Given the description of an element on the screen output the (x, y) to click on. 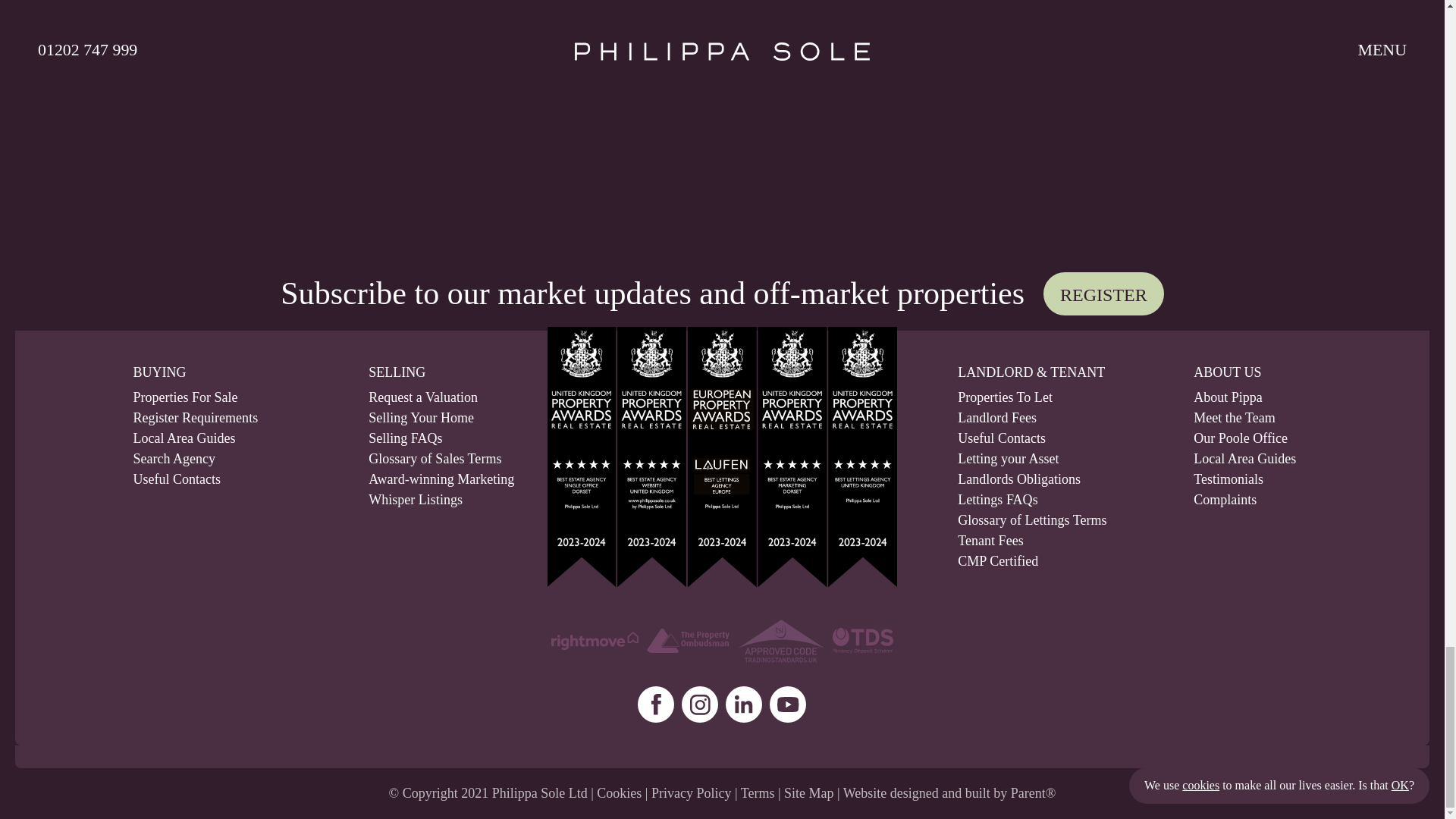
Whisper Listings (427, 499)
Register Requirements (250, 417)
REGISTER (1103, 293)
Local Area Guides (250, 438)
Request a Valuation (427, 397)
Properties For Sale (250, 397)
Glossary of Sales Terms (427, 458)
Selling FAQs (427, 438)
Useful Contacts (250, 479)
Award-winning Marketing (427, 479)
Selling Your Home (427, 417)
Search Agency (250, 458)
